Given the description of an element on the screen output the (x, y) to click on. 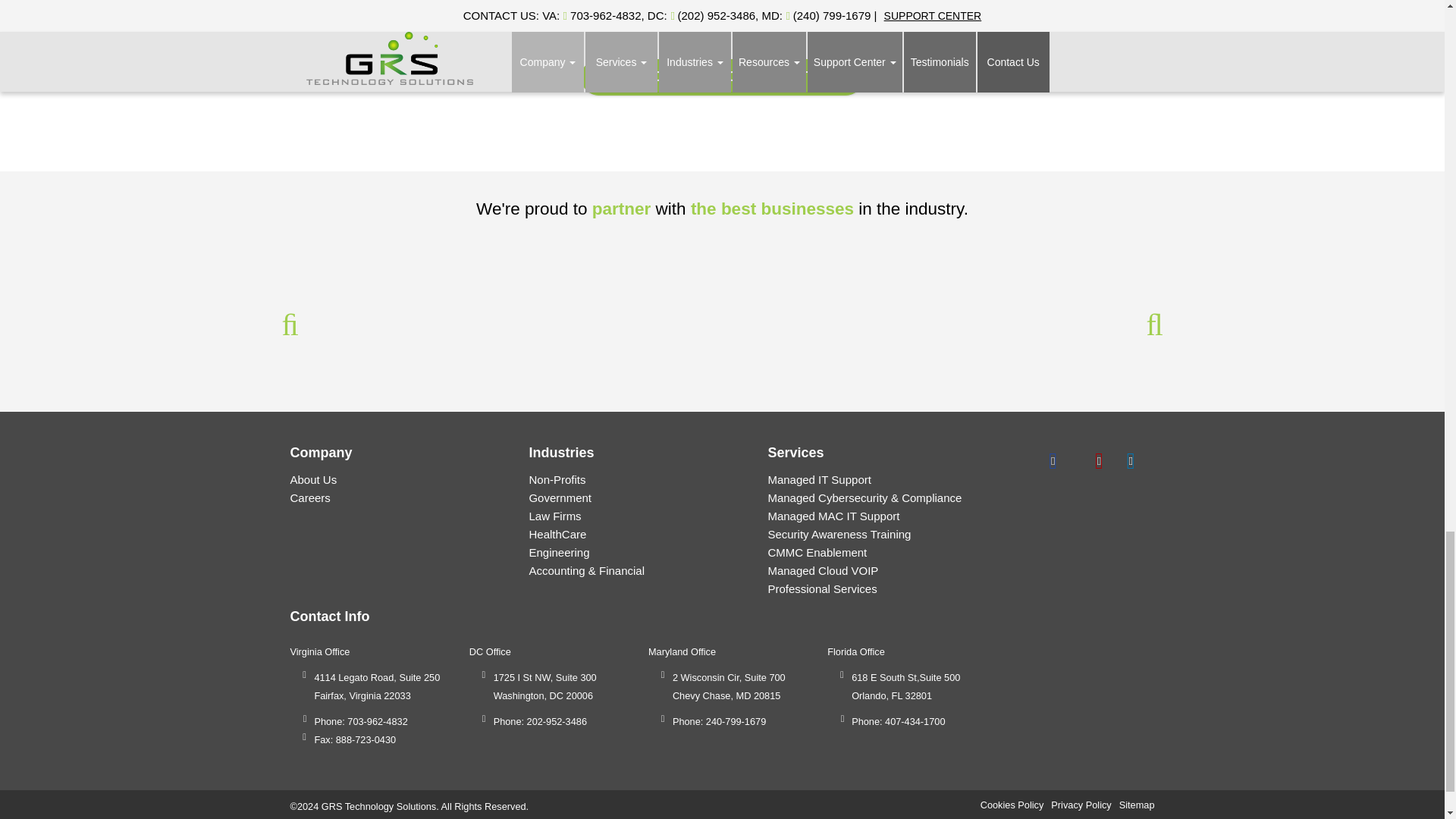
HealthCare (557, 533)
Sitemap (1136, 804)
Find us on Youtube (1098, 459)
Careers (309, 497)
Follow us on Facebook (1053, 459)
About Us (312, 479)
Watch us on Youtube (1130, 459)
Engineering (558, 552)
Non-Profits (556, 479)
Government (559, 497)
